Given the description of an element on the screen output the (x, y) to click on. 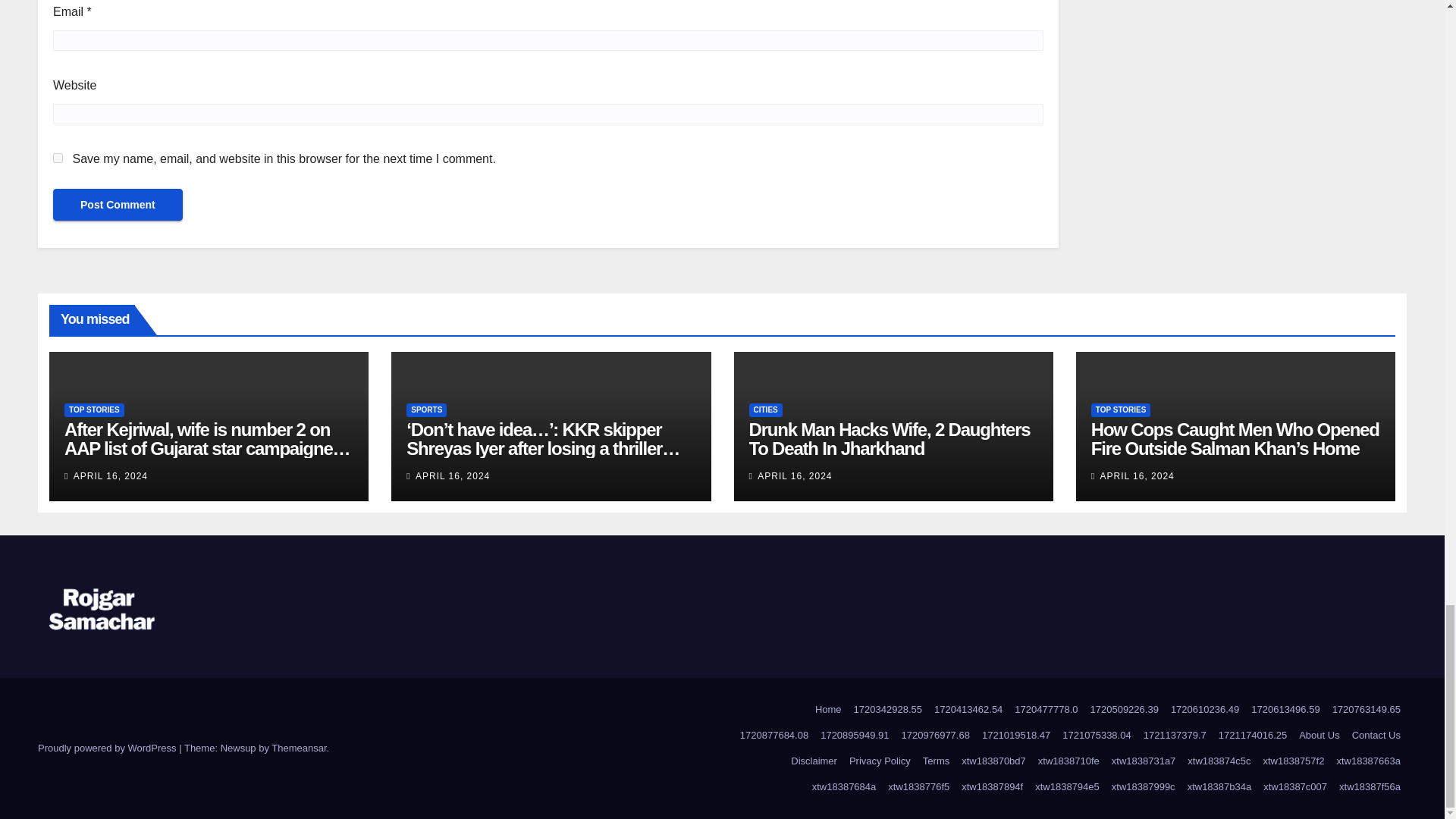
Post Comment (117, 204)
yes (57, 157)
